Given the description of an element on the screen output the (x, y) to click on. 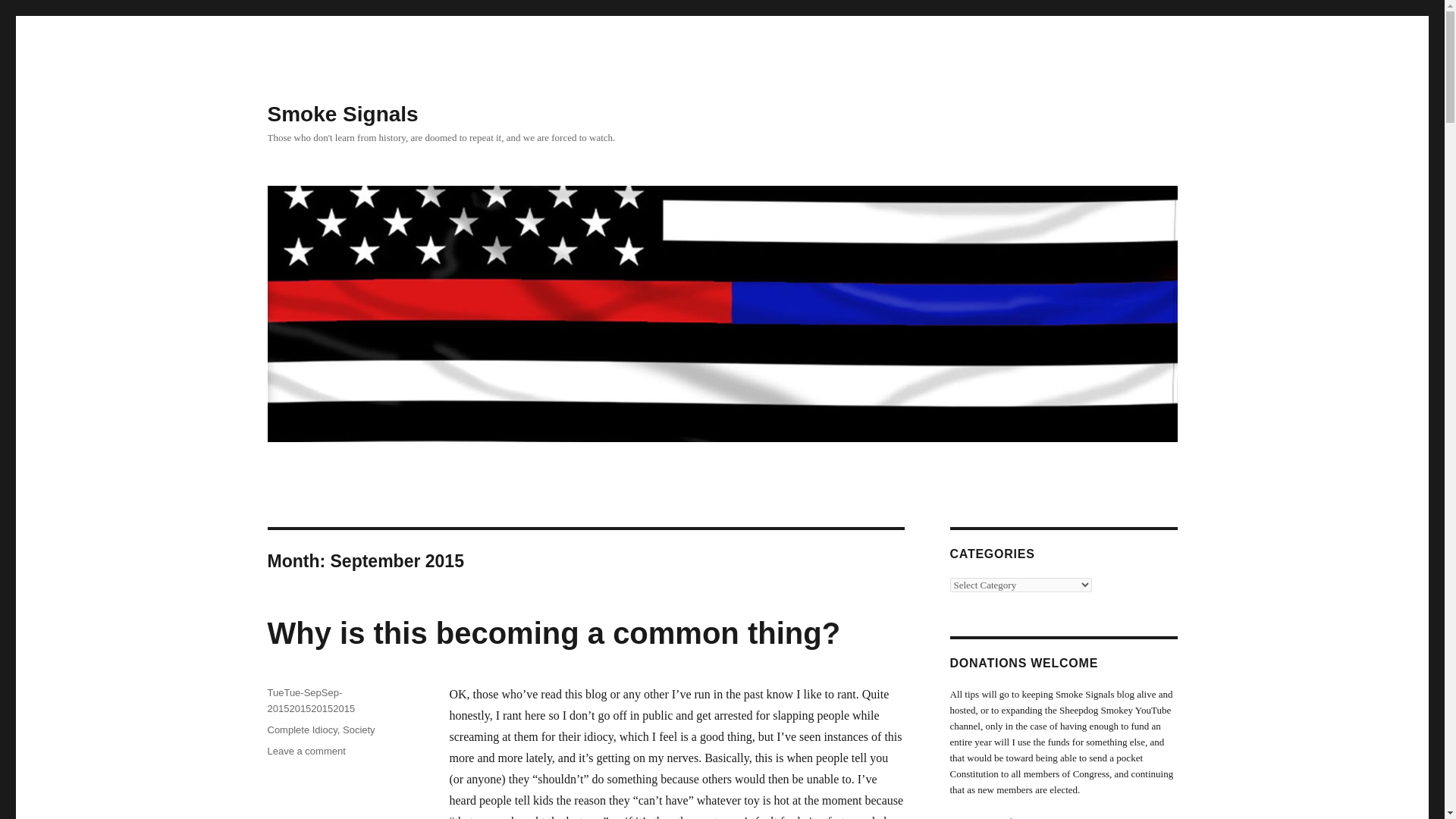
Smoke Signals (341, 114)
Society (358, 729)
Why is this becoming a common thing? (553, 633)
TueTue-SepSep-2015201520152015 (305, 750)
Complete Idiocy (310, 700)
